Given the description of an element on the screen output the (x, y) to click on. 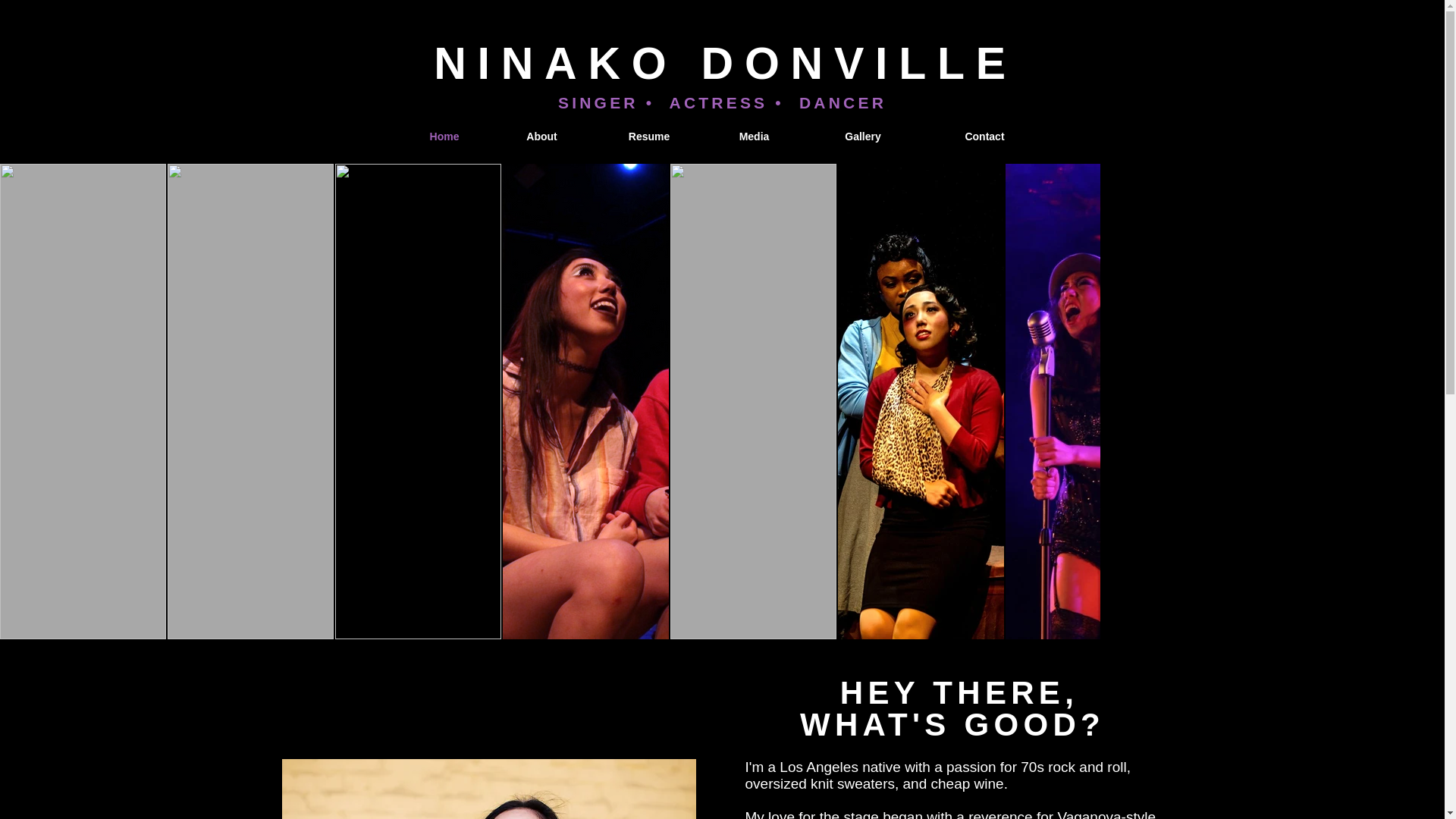
About (542, 136)
Gallery (863, 136)
Contact (984, 136)
Resume (648, 136)
Home (444, 136)
NINAKO DONVILLE (724, 63)
Media (753, 136)
HEY THERE, WHAT'S GOOD?  (958, 708)
